Given the description of an element on the screen output the (x, y) to click on. 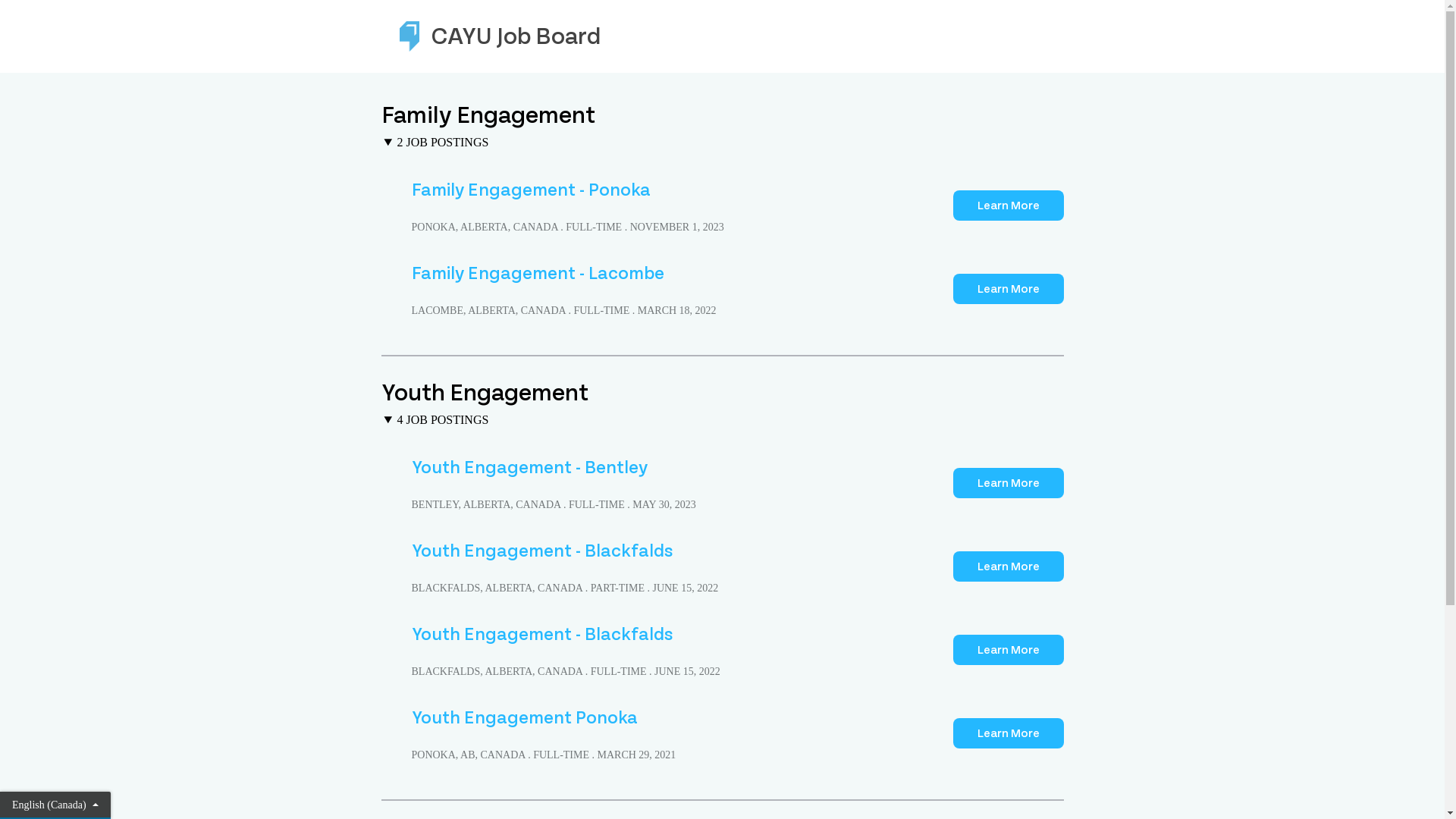
Youth Engagement - Blackfalds Element type: text (541, 550)
CAYU Job Board Element type: text (721, 36)
Youth Engagement - Bentley Element type: text (528, 467)
Family Engagement - Lacombe Element type: text (537, 272)
Learn More Element type: text (1007, 649)
Learn More Element type: text (1007, 566)
Learn More Element type: text (1007, 288)
Youth Engagement - Blackfalds Element type: text (541, 633)
Family Engagement - Ponoka Element type: text (530, 189)
Youth Engagement Ponoka Element type: text (524, 717)
Learn More Element type: text (1007, 733)
Learn More Element type: text (1007, 482)
Learn More Element type: text (1007, 205)
